Given the description of an element on the screen output the (x, y) to click on. 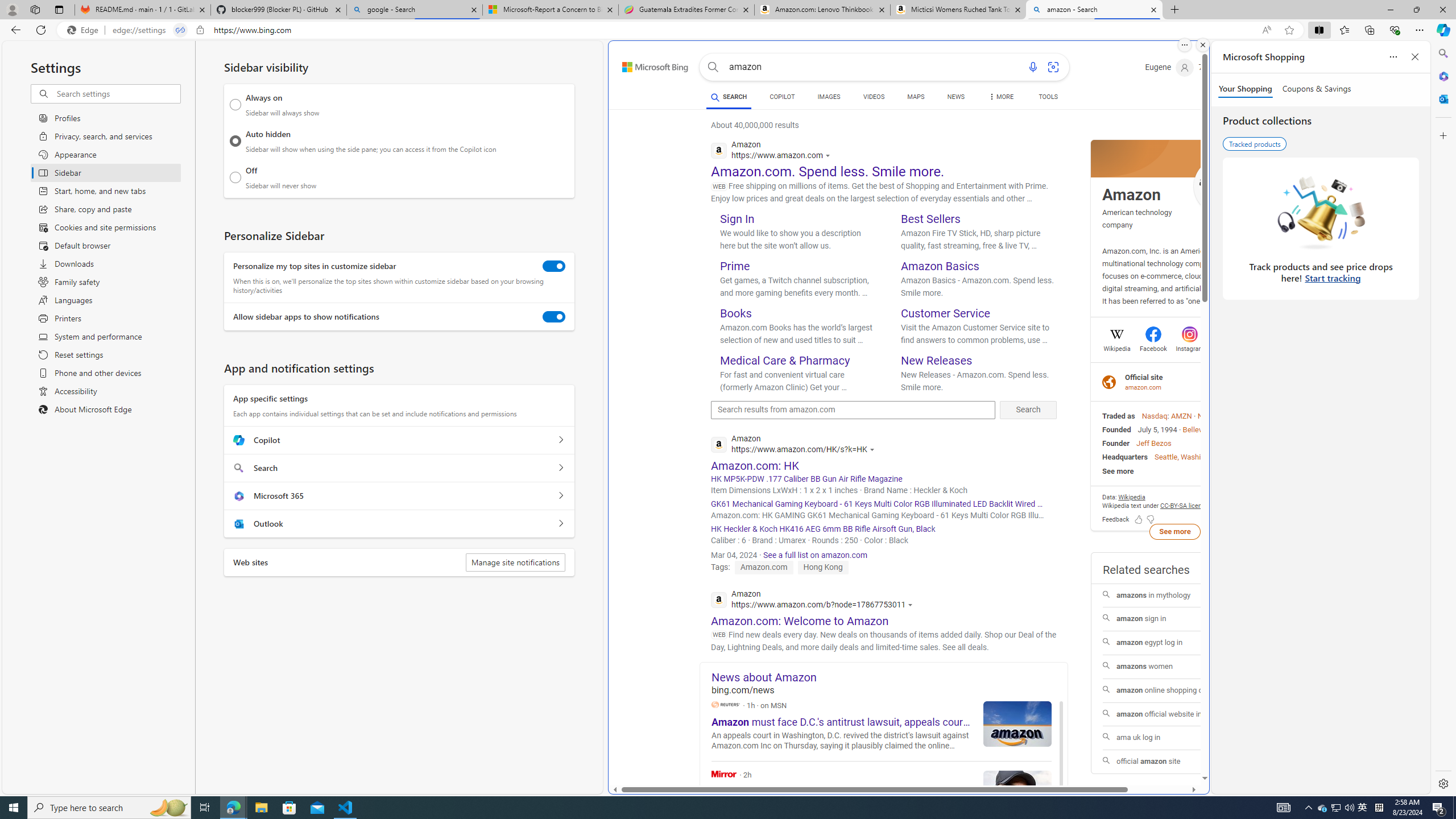
Search more (1179, 744)
Edge (84, 29)
Close split screen. (1202, 45)
News about Amazon (889, 677)
Personalize my top sites in customize sidebar (553, 265)
